Given the description of an element on the screen output the (x, y) to click on. 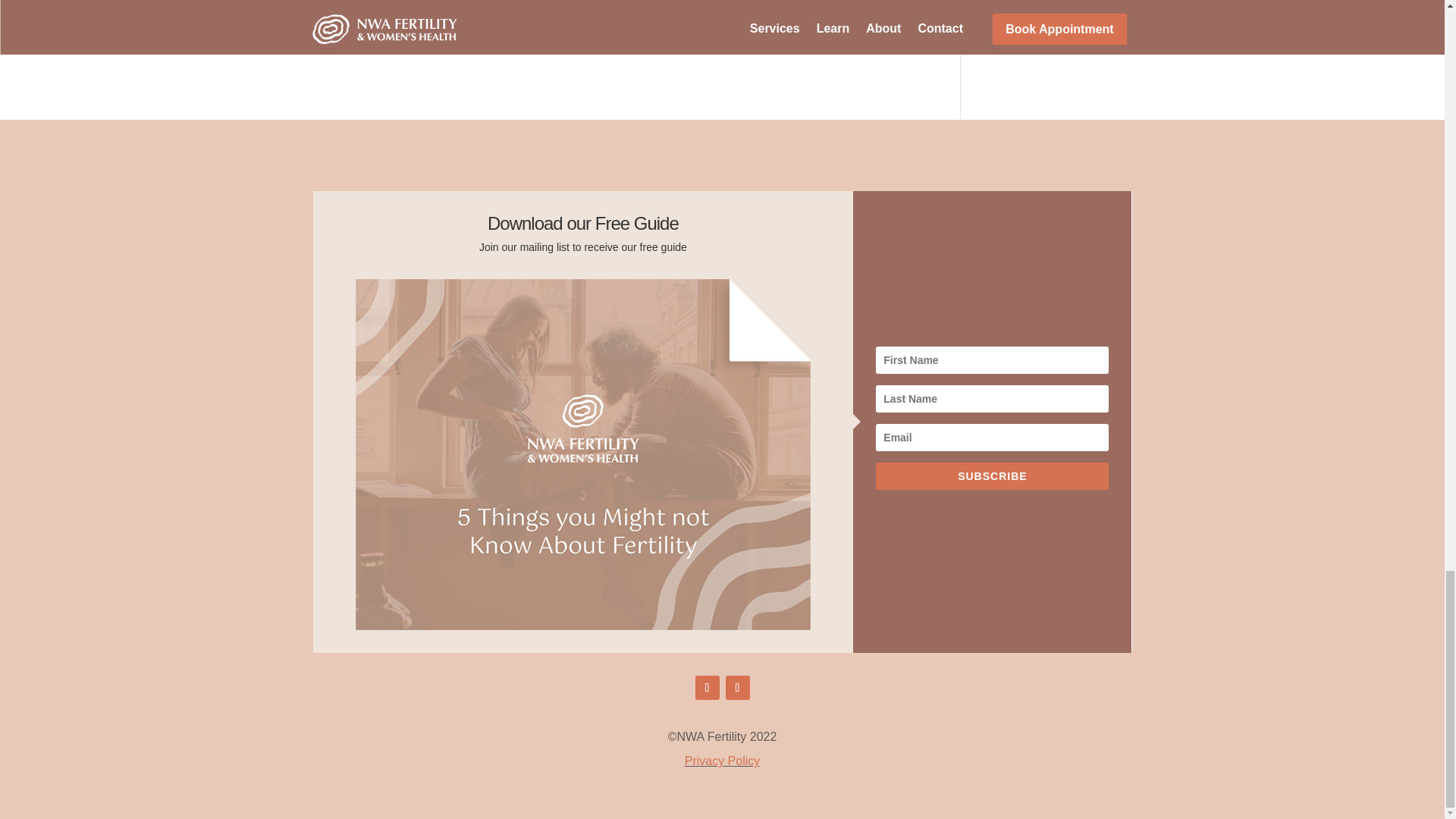
Privacy Policy (722, 760)
Follow on Facebook (706, 687)
SUBSCRIBE (992, 475)
Follow on Instagram (737, 687)
